Given the description of an element on the screen output the (x, y) to click on. 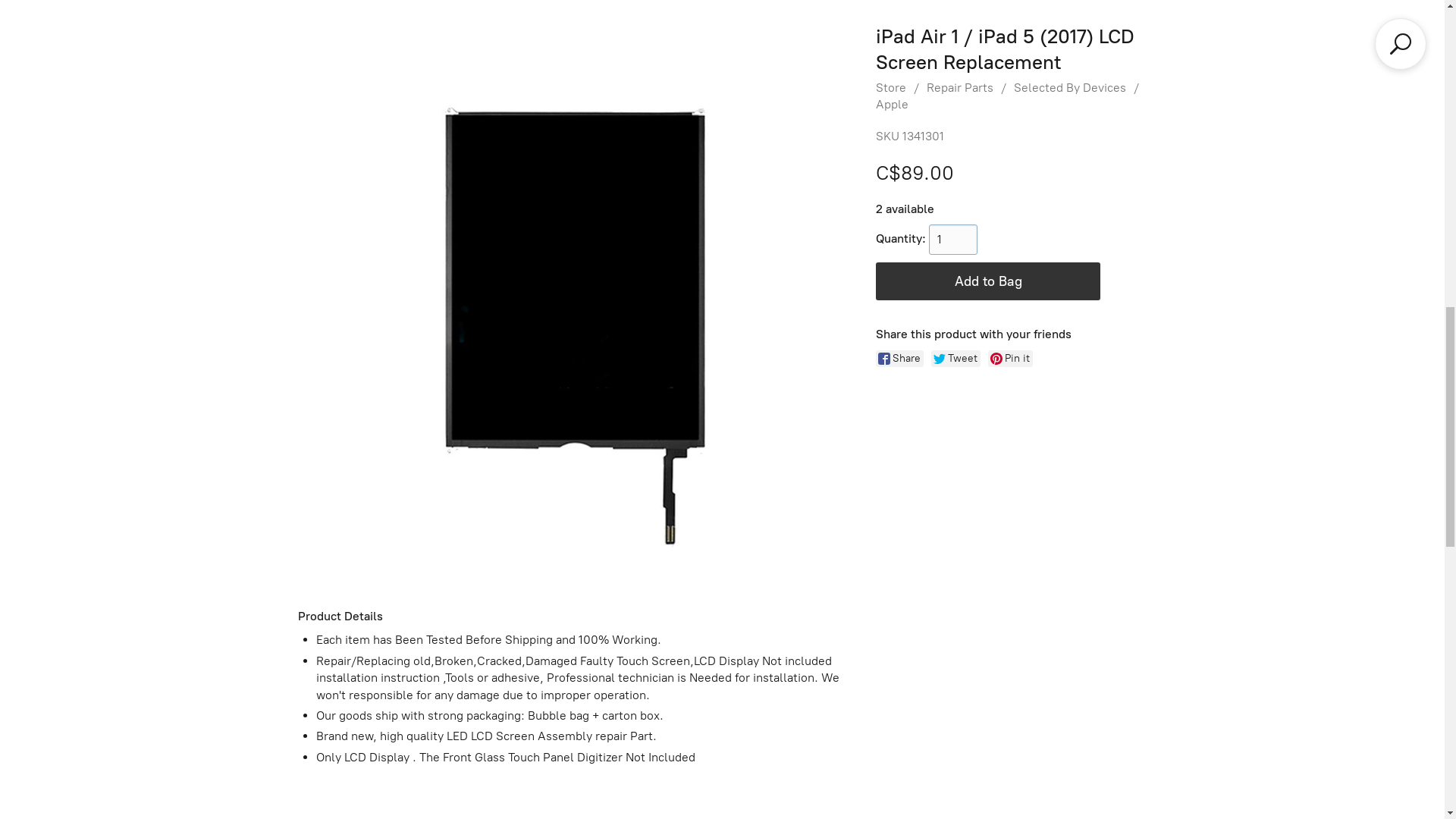
https://www.repairdesk.co/?source=30minwholesale Element type: text (722, 508)
Business hours Element type: text (1338, 26)
Store Element type: text (45, 26)
1-306-351-5555 Element type: text (1113, 26)
Get directions Element type: text (1226, 26)
Shop Now Element type: text (722, 569)
Contact us Element type: text (188, 26)
Location Element type: text (109, 26)
